Given the description of an element on the screen output the (x, y) to click on. 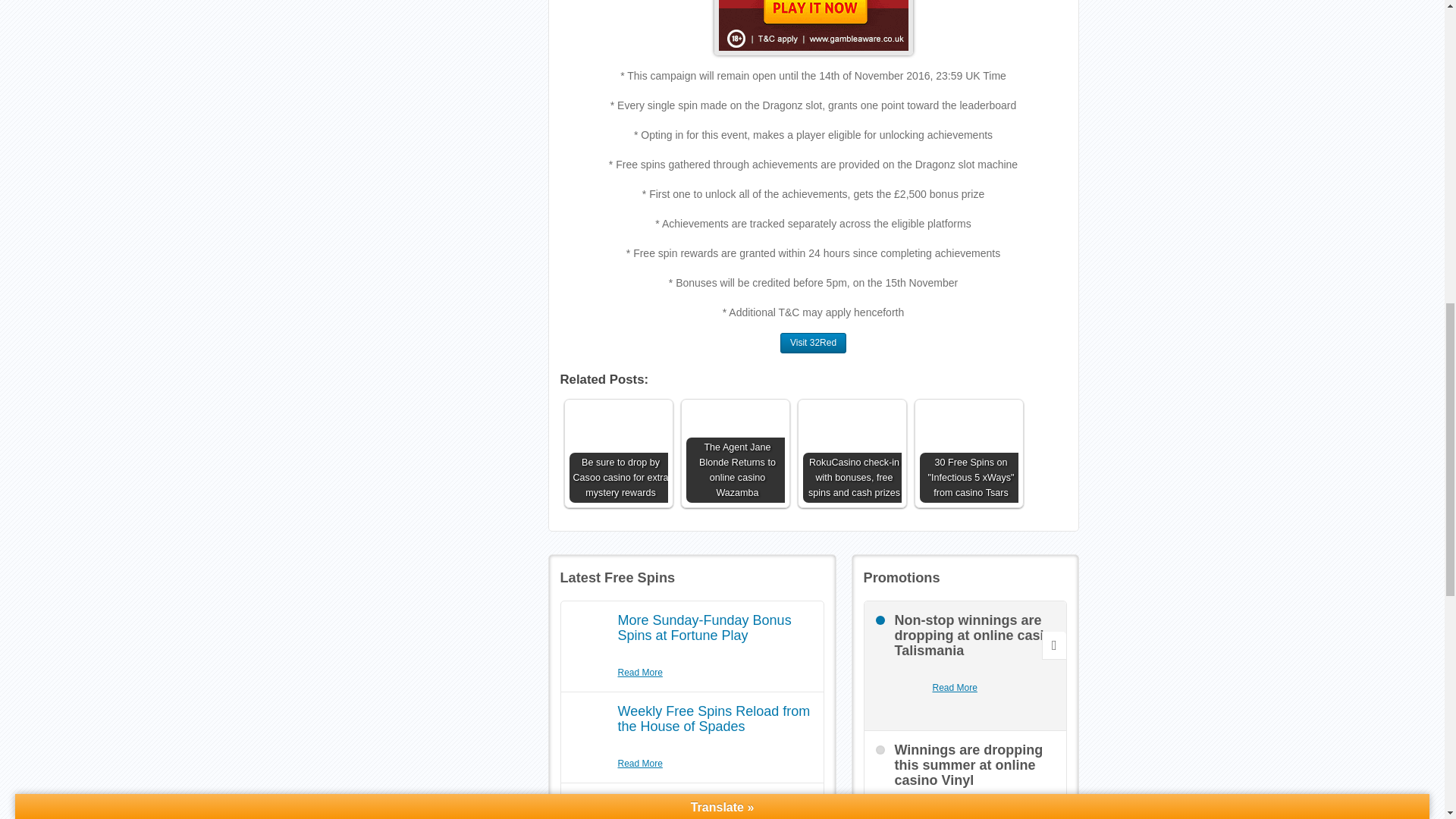
RokuCasino check-in with bonuses, free spins and cash prizes (851, 453)
RokuCasino check-in with bonuses, free spins and cash prizes (851, 453)
30 Free Spins on "Infectious 5 xWays" from casino Tsars (967, 453)
Weekly Free Spins Reload from the House of Spades (713, 718)
Read More (954, 687)
30 Free Spins on "Infectious 5 xWays" from casino Tsars (967, 453)
Visit 32Red (812, 342)
Read More (639, 763)
Be sure to drop by Casoo casino for extra mystery rewards (617, 453)
The Agent Jane Blonde Returns to online casino Wazamba (734, 453)
Read More (639, 672)
Be sure to drop by Casoo casino for extra mystery rewards (617, 453)
More Sunday-Funday Bonus Spins at Fortune Play (703, 627)
Sunday-Funday: Free Spins from casino FortunePlay (702, 806)
The Agent Jane Blonde Returns to online casino Wazamba (734, 453)
